Given the description of an element on the screen output the (x, y) to click on. 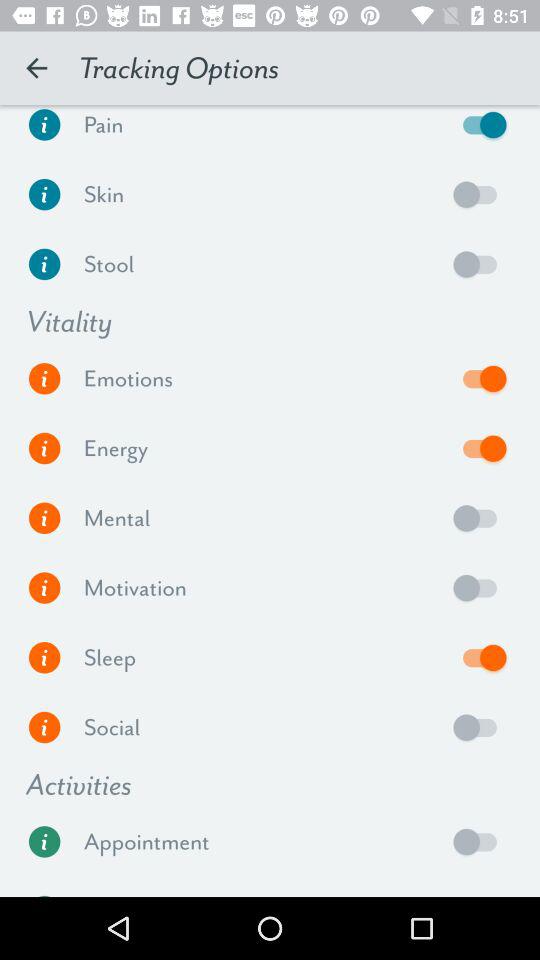
toggle pain (479, 129)
